Given the description of an element on the screen output the (x, y) to click on. 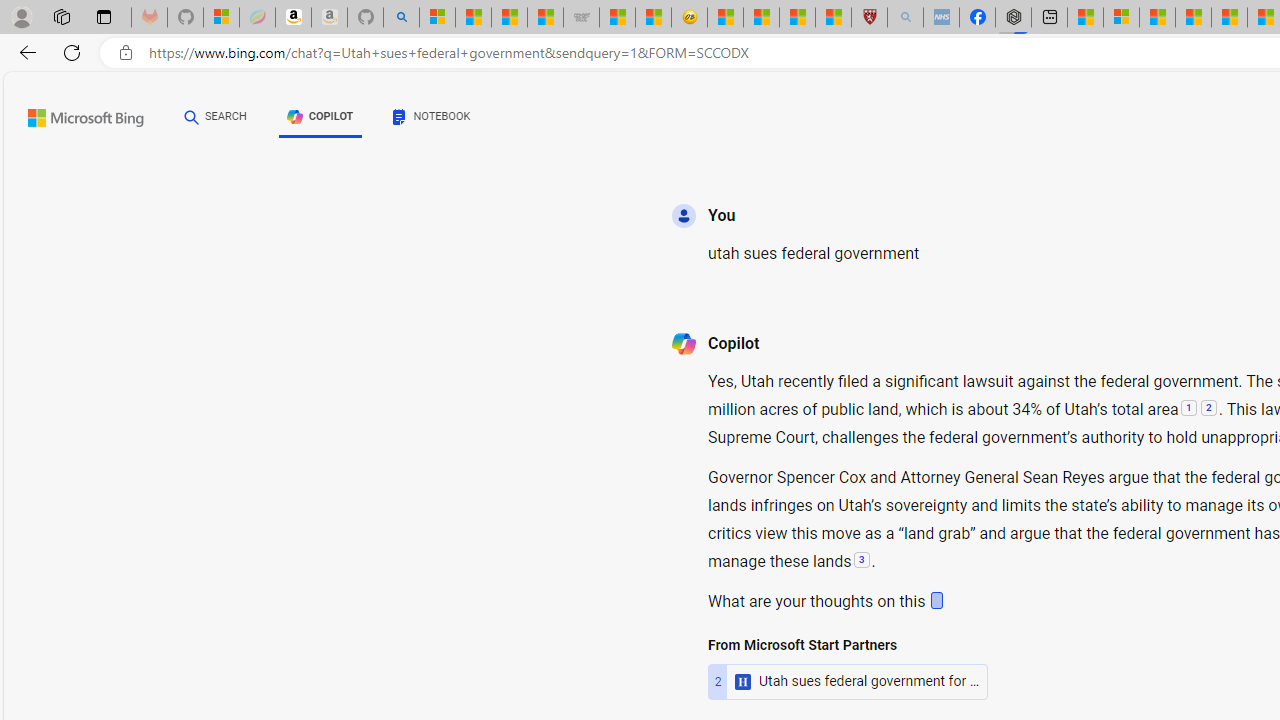
1:  (1188, 409)
2 Utah sues federal government for control of public lands (847, 642)
Back to Bing search (73, 113)
COPILOT (319, 120)
2Utah sues federal government for control of public lands (847, 642)
